Given the description of an element on the screen output the (x, y) to click on. 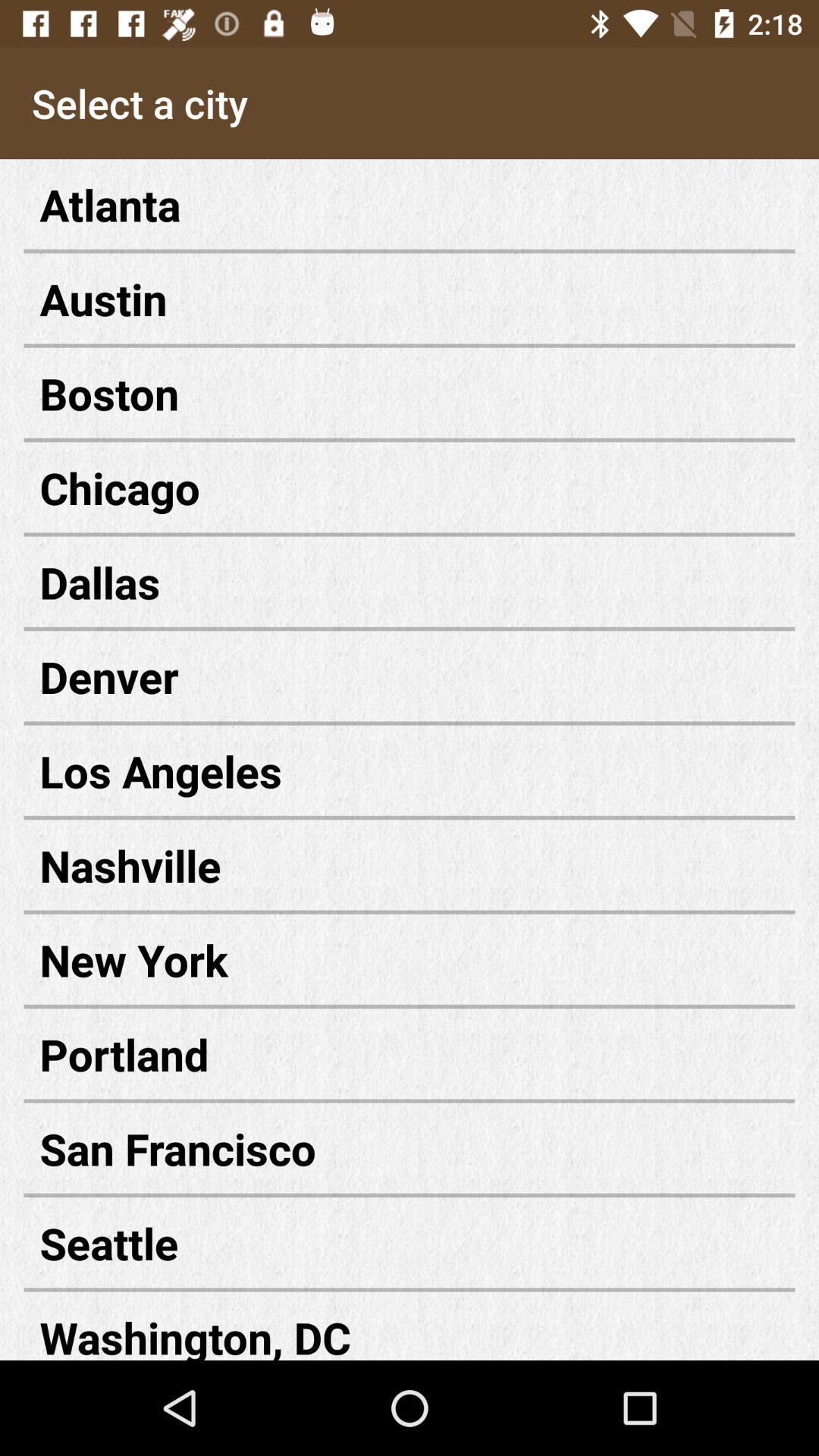
choose the atlanta item (409, 204)
